Given the description of an element on the screen output the (x, y) to click on. 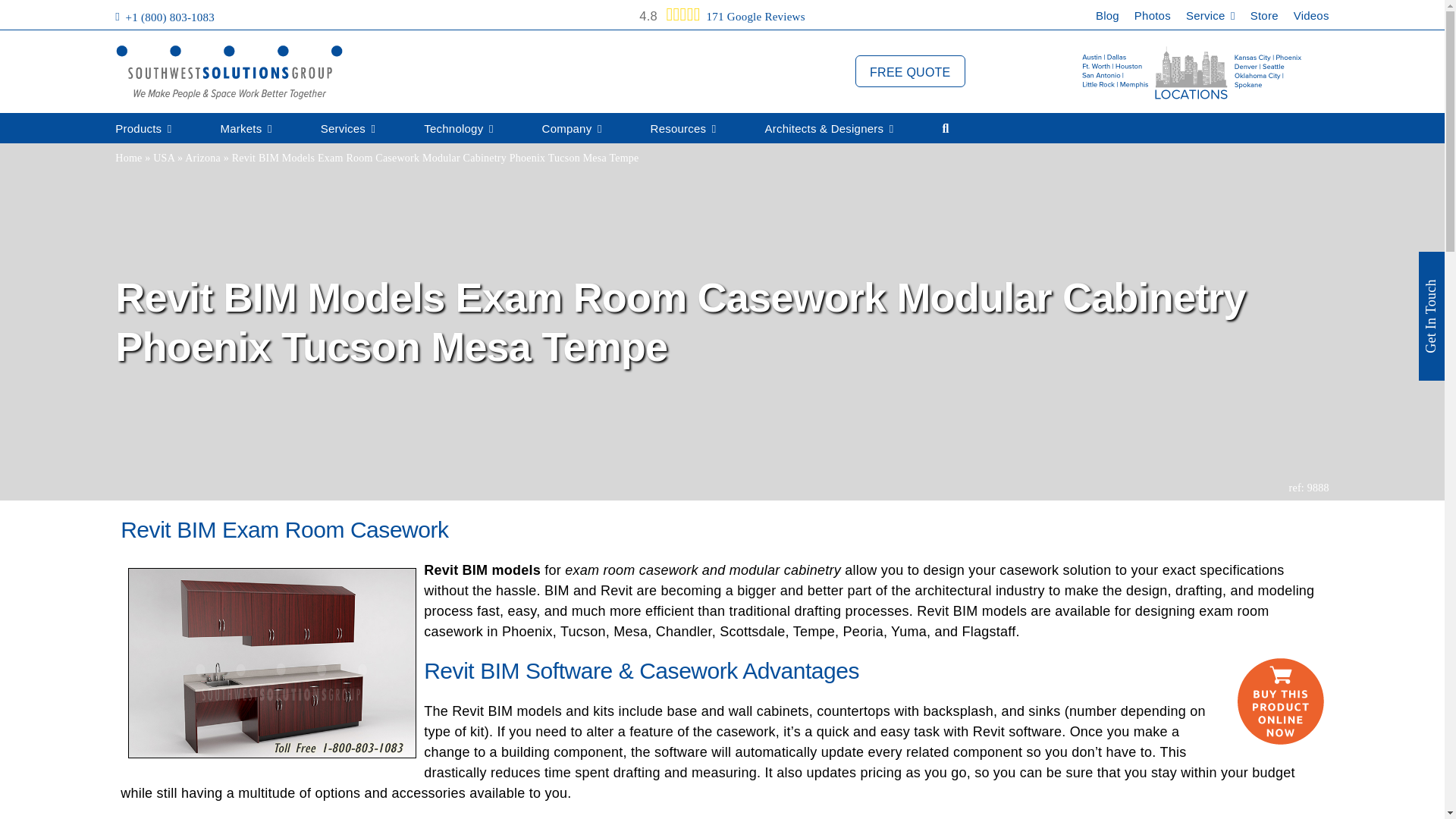
Find a local office (1192, 72)
Products (143, 128)
FREE QUOTE (909, 70)
Videos (1311, 19)
Service (1210, 19)
Photos (1152, 19)
